Given the description of an element on the screen output the (x, y) to click on. 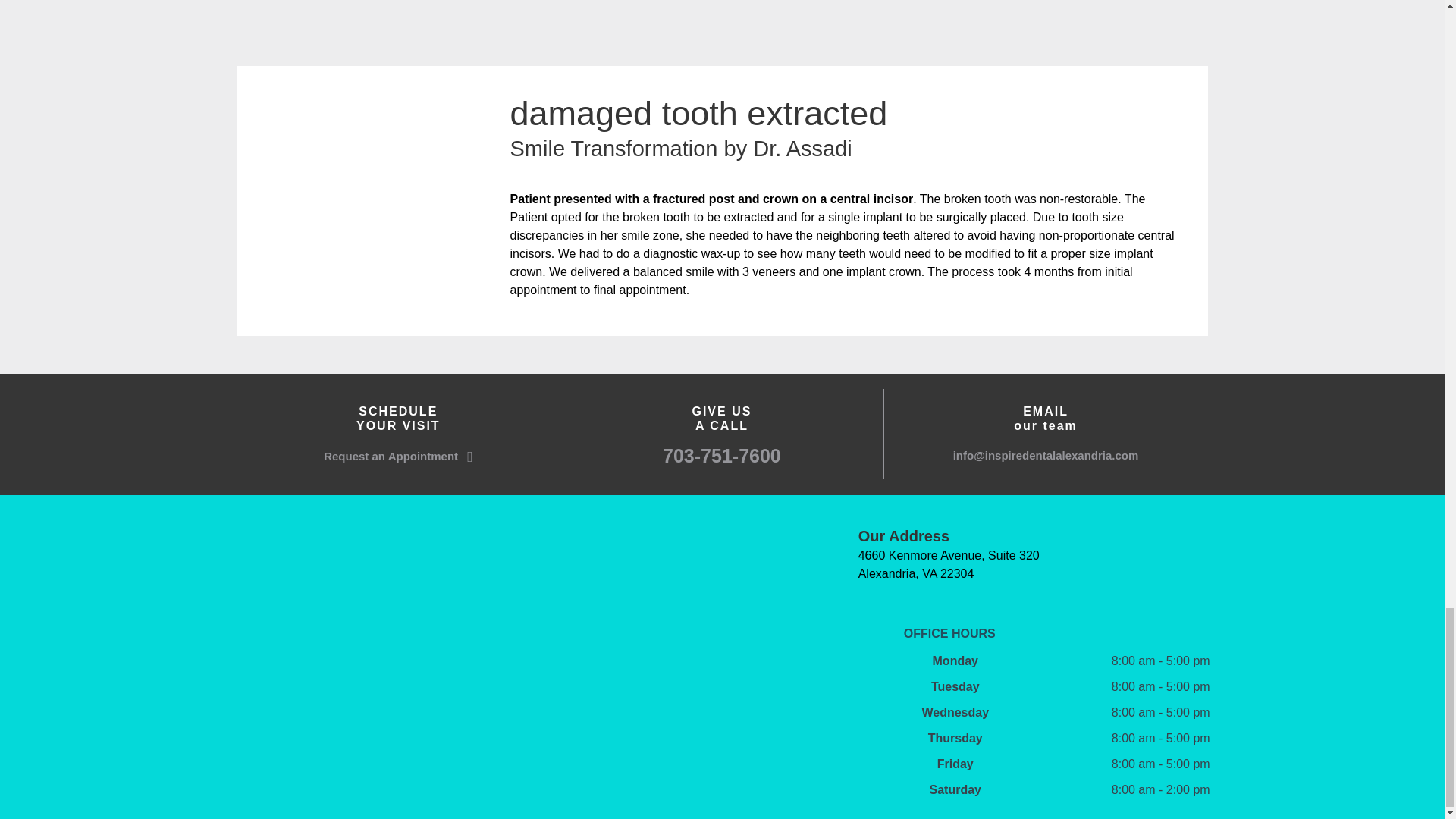
Inspire Logo Trans (496, 603)
